Given the description of an element on the screen output the (x, y) to click on. 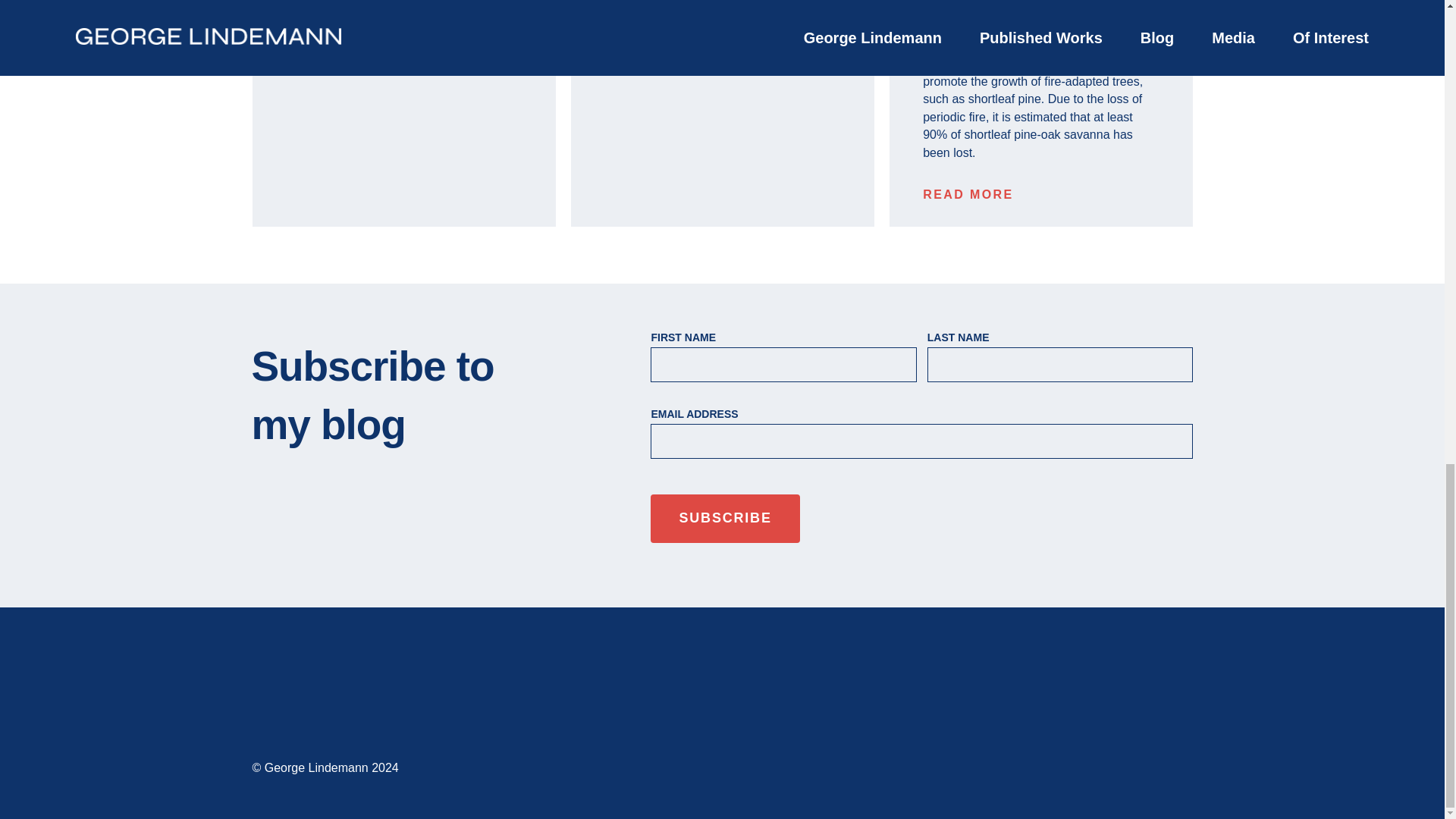
Subscribe (724, 518)
Subscribe (724, 518)
READ MORE (968, 194)
